Given the description of an element on the screen output the (x, y) to click on. 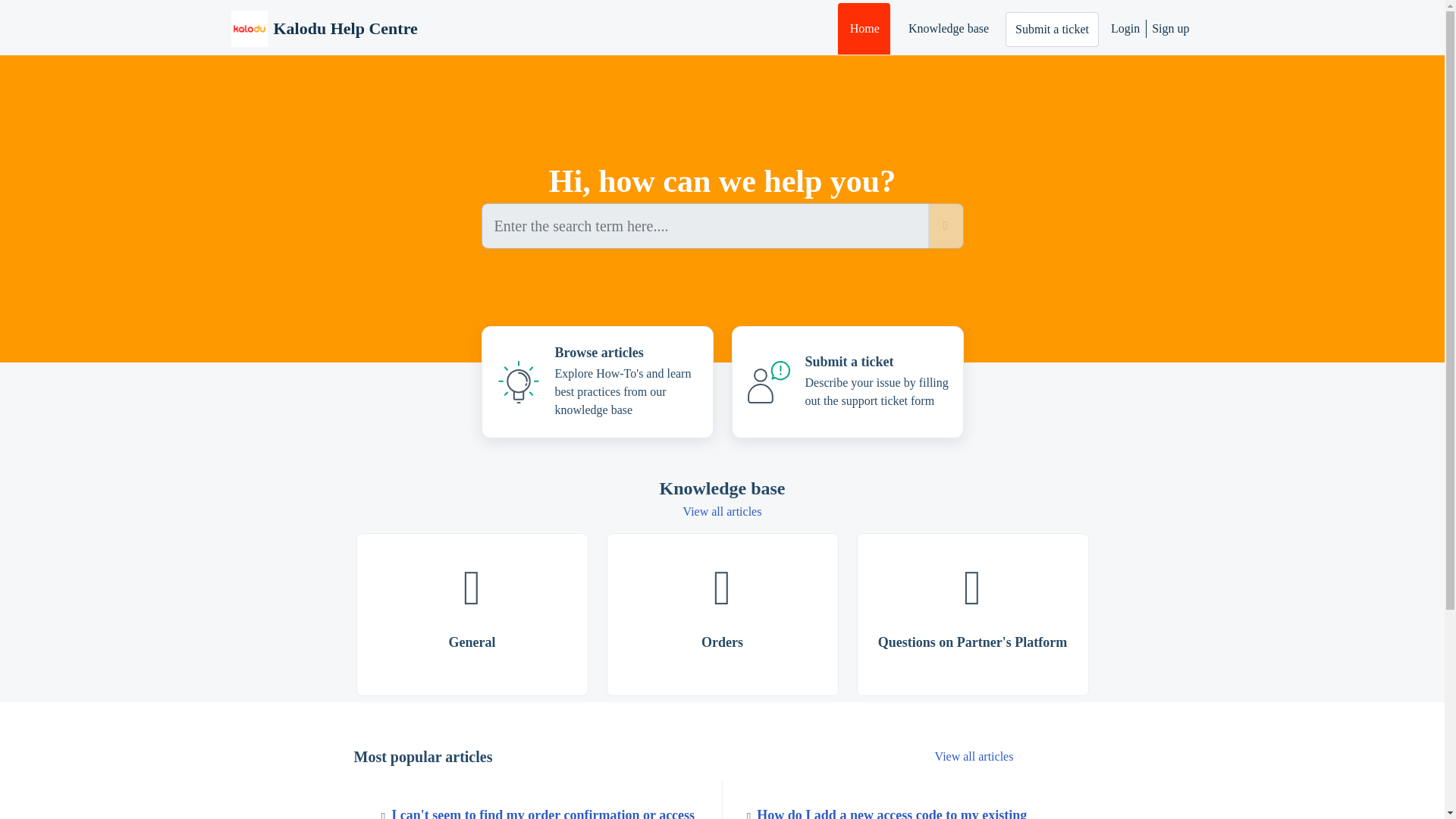
Questions on Partner's Platform (973, 614)
Kalodu Help Centre (323, 28)
Home (863, 28)
Kalodu Help Centre (344, 28)
Submit a ticket (1052, 29)
General (472, 614)
View all articles (721, 511)
Knowledge base (947, 28)
View all articles (973, 756)
Login (1127, 28)
Sign up (1167, 28)
Orders (722, 614)
